Given the description of an element on the screen output the (x, y) to click on. 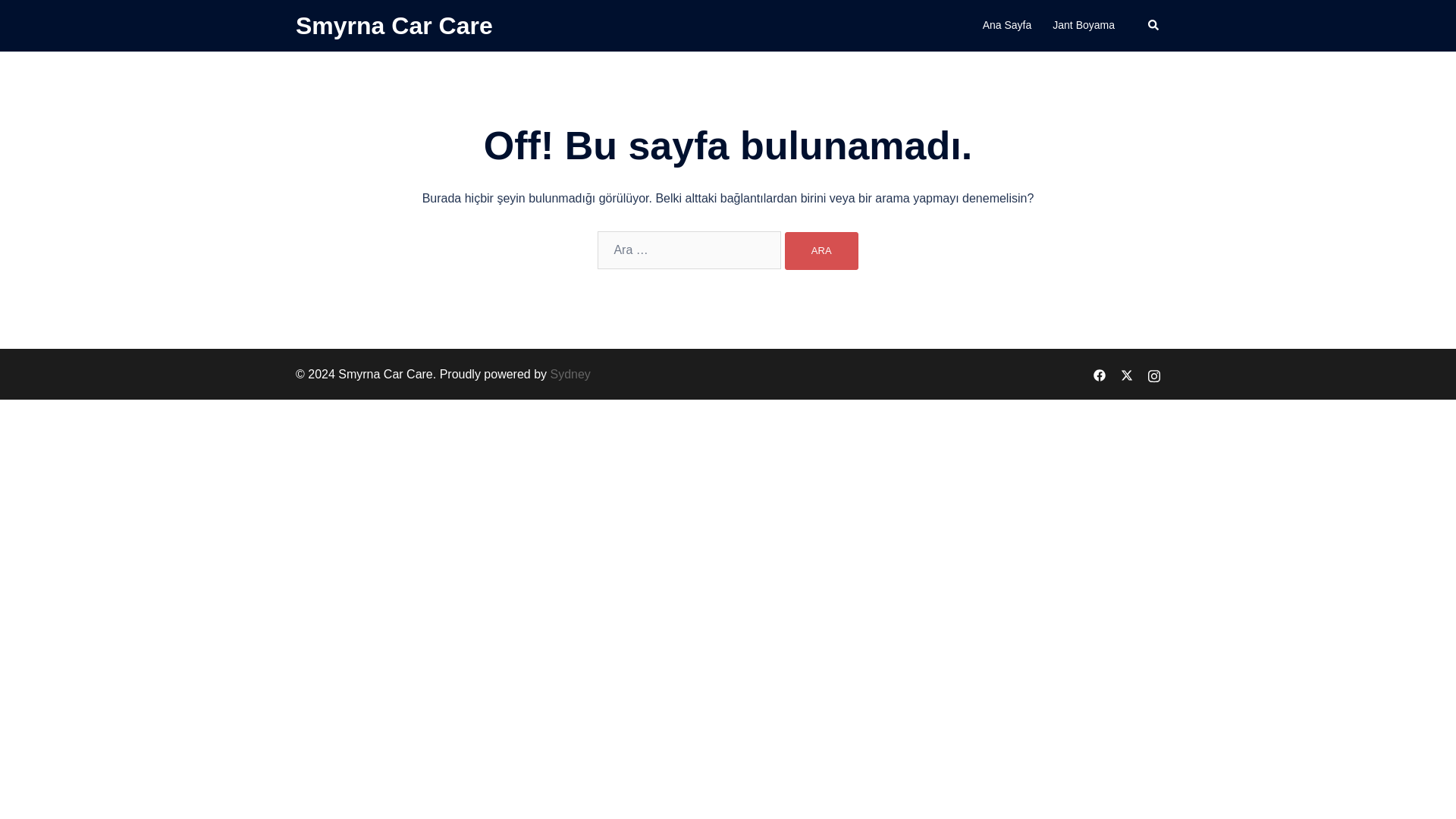
Jant Boyama (1083, 25)
Ana Sayfa (1007, 25)
Smyrna Car Care (394, 25)
Ara (821, 250)
Sydney (570, 373)
Search (1154, 25)
Ara (821, 250)
Ara (821, 250)
